Given the description of an element on the screen output the (x, y) to click on. 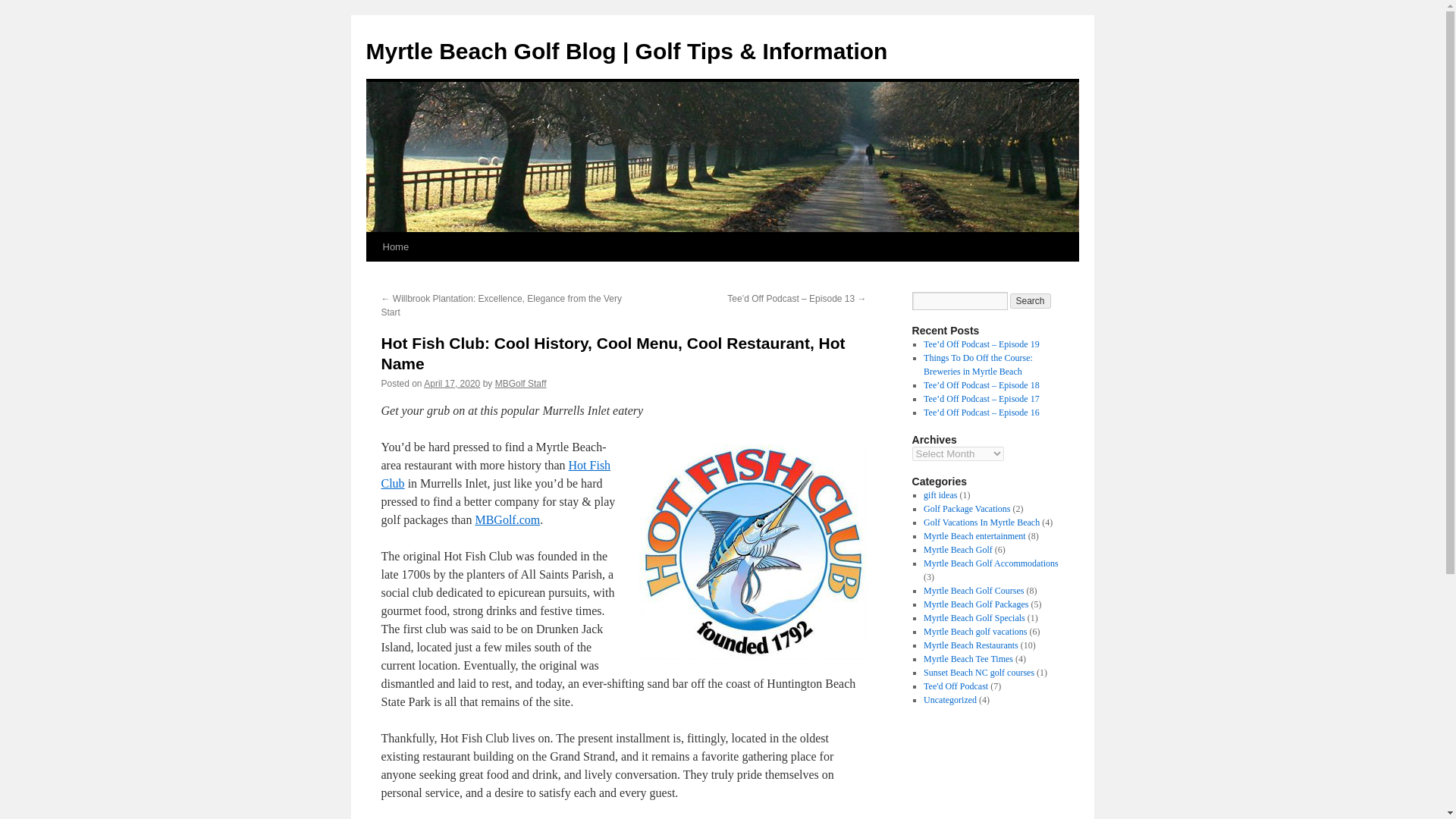
Sunset Beach NC golf courses (978, 672)
Myrtle Beach Golf Packages (975, 603)
gift ideas (939, 494)
Golf Package Vacations (966, 508)
10:26 am (451, 383)
Things To Do Off the Course: Breweries in Myrtle Beach (977, 364)
April 17, 2020 (451, 383)
Myrtle Beach golf vacations (974, 631)
Search (1030, 300)
Home (395, 246)
Hot Fish Club (495, 473)
Golf Vacations In Myrtle Beach (981, 521)
Myrtle Beach Restaurants (970, 644)
Myrtle Beach Tee Times (968, 658)
View all posts by MBGolf Staff (521, 383)
